Given the description of an element on the screen output the (x, y) to click on. 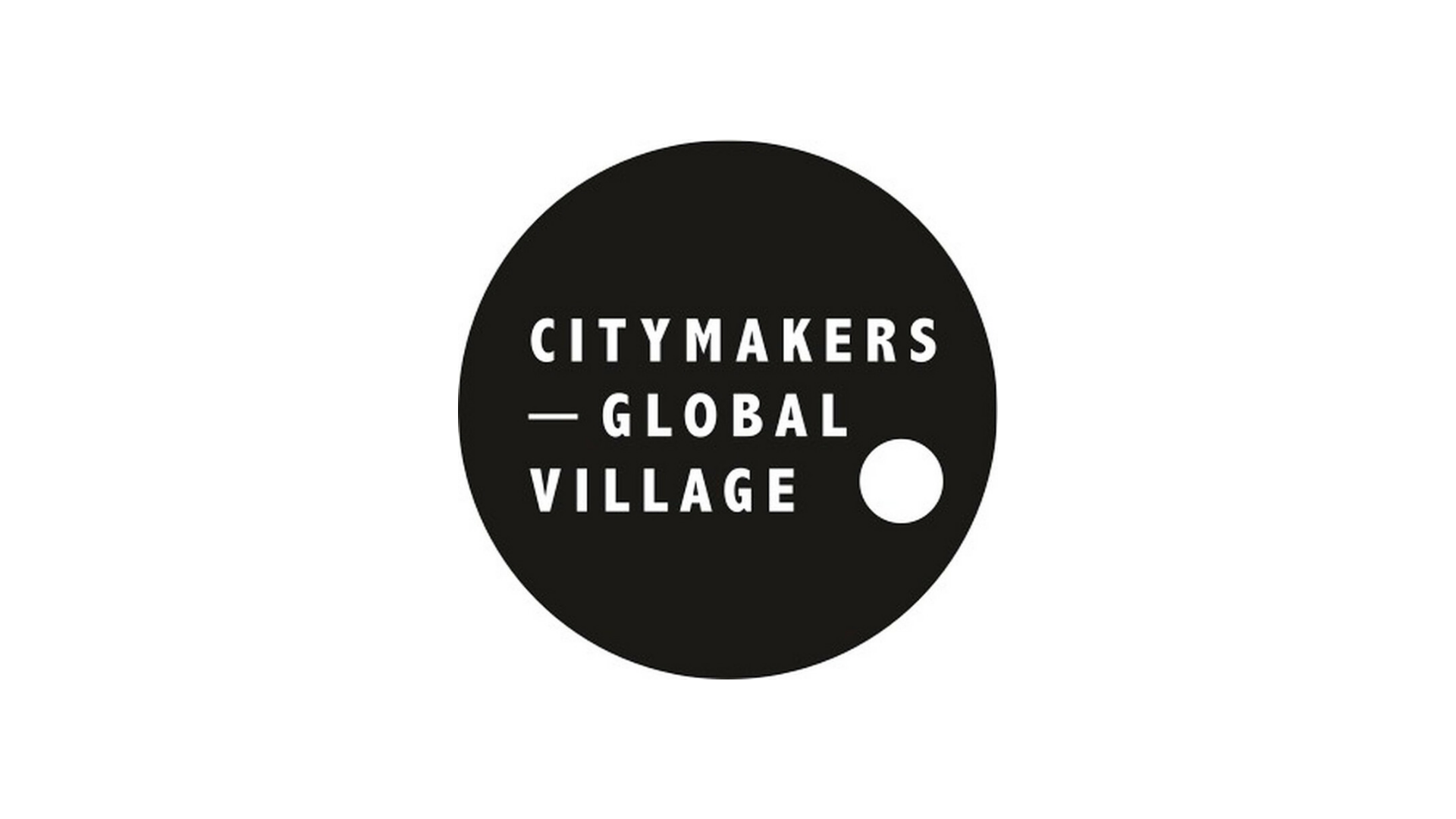
Walks (997, 42)
Videos (488, 42)
Future of Living (678, 12)
Green Transformation (380, 12)
Social Entrepreneurship (536, 12)
Berlin (1139, 12)
Beijing (1324, 12)
Ruhr (138, 42)
Wuhan (56, 42)
Shanghai (301, 42)
Scientists for city making (875, 42)
Institutional Collaborators (1338, 42)
People Profiles (590, 42)
Future of Education (1027, 12)
Maker Projects (1195, 42)
